Given the description of an element on the screen output the (x, y) to click on. 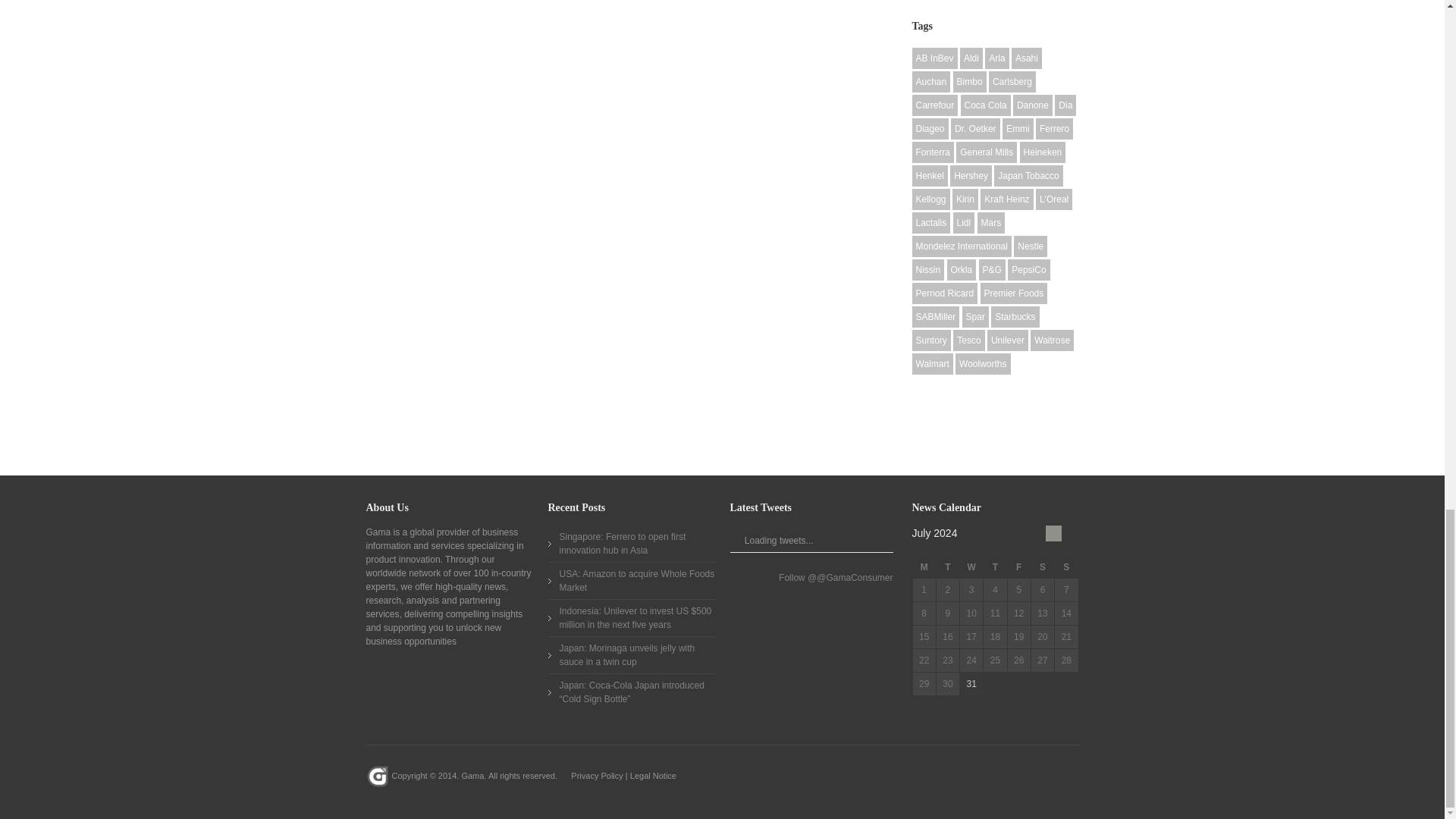
22 topics (970, 57)
24 topics (997, 57)
9 topics (1026, 57)
18 topics (933, 57)
9 topics (930, 81)
